Given the description of an element on the screen output the (x, y) to click on. 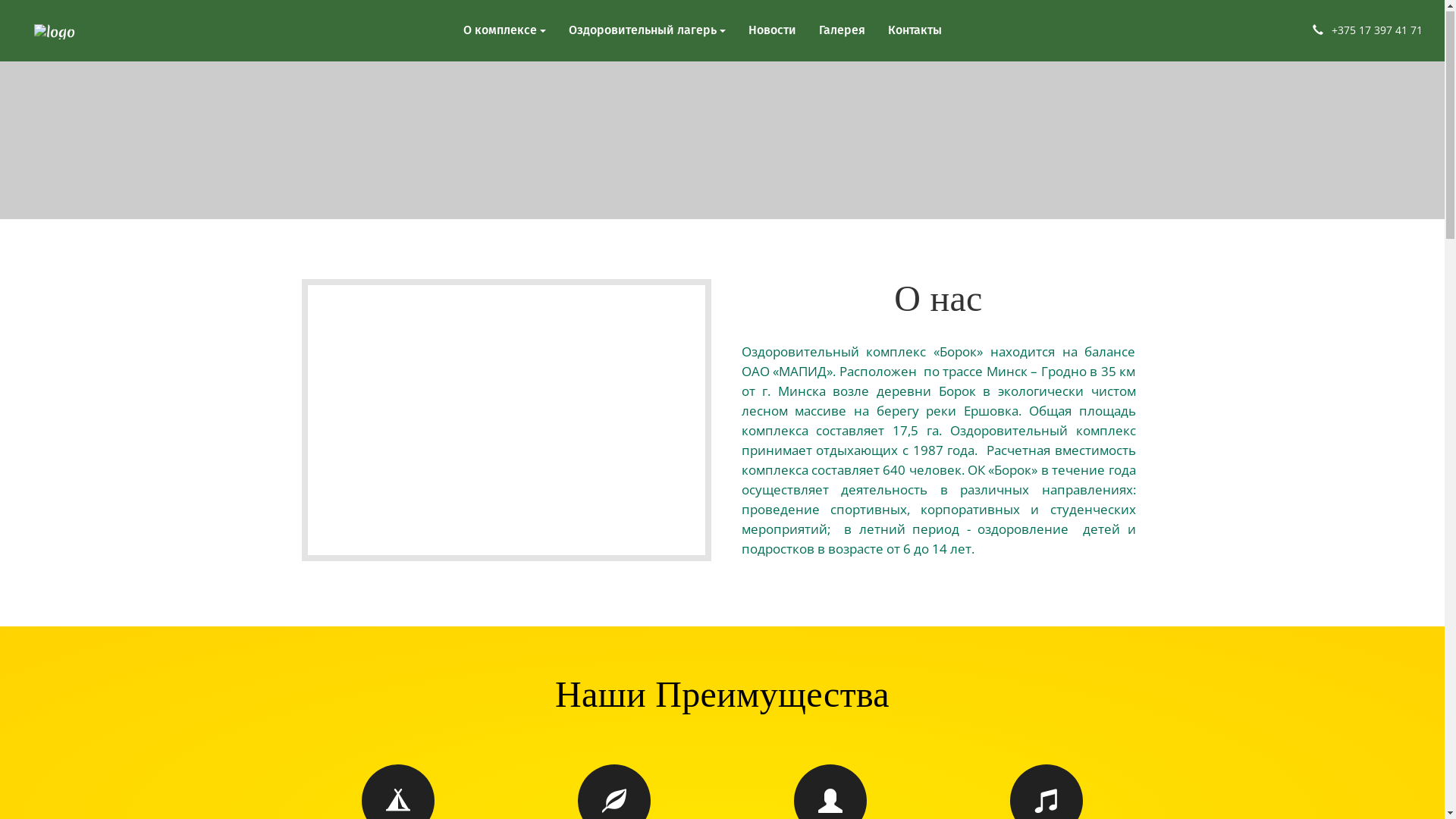
+375 17 397 41 71 Element type: text (1376, 30)
